Given the description of an element on the screen output the (x, y) to click on. 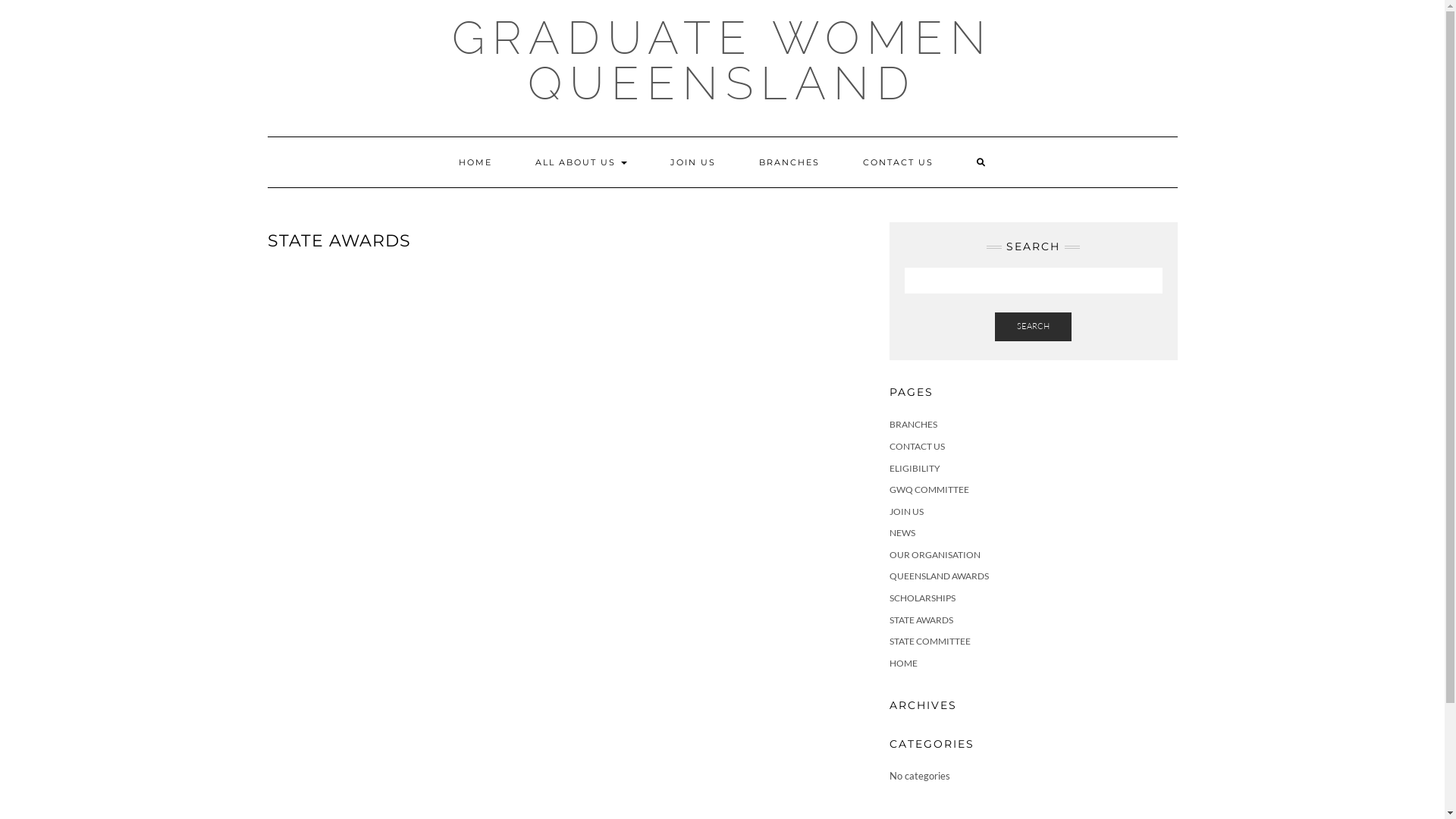
GWQ COMMITTEE Element type: text (928, 489)
BRANCHES Element type: text (789, 162)
SCHOLARSHIPS Element type: text (921, 597)
HOME Element type: text (902, 662)
JOIN US Element type: text (905, 511)
QUEENSLAND AWARDS Element type: text (938, 575)
ALL ABOUT US Element type: text (580, 162)
JOIN US Element type: text (692, 162)
SEARCH Element type: text (1032, 326)
BRANCHES Element type: text (912, 423)
GRADUATE WOMEN QUEENSLAND Element type: text (722, 60)
OUR ORGANISATION Element type: text (933, 554)
CONTACT US Element type: text (897, 162)
CONTACT US Element type: text (916, 445)
NEWS Element type: text (901, 532)
STATE COMMITTEE Element type: text (928, 640)
HOME Element type: text (475, 162)
STATE AWARDS Element type: text (920, 619)
ELIGIBILITY Element type: text (913, 467)
